Given the description of an element on the screen output the (x, y) to click on. 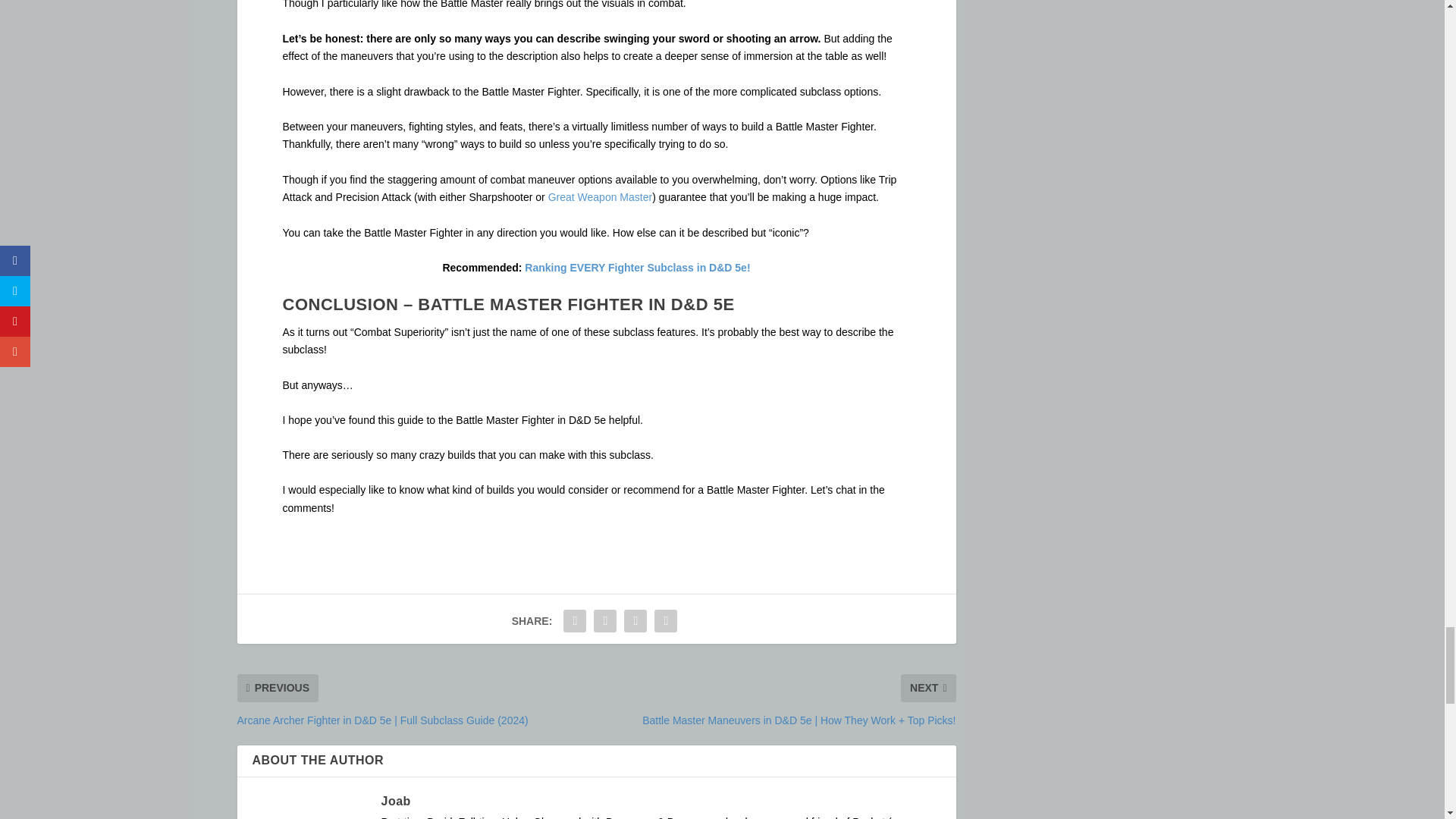
View all posts by Joab (395, 800)
